Given the description of an element on the screen output the (x, y) to click on. 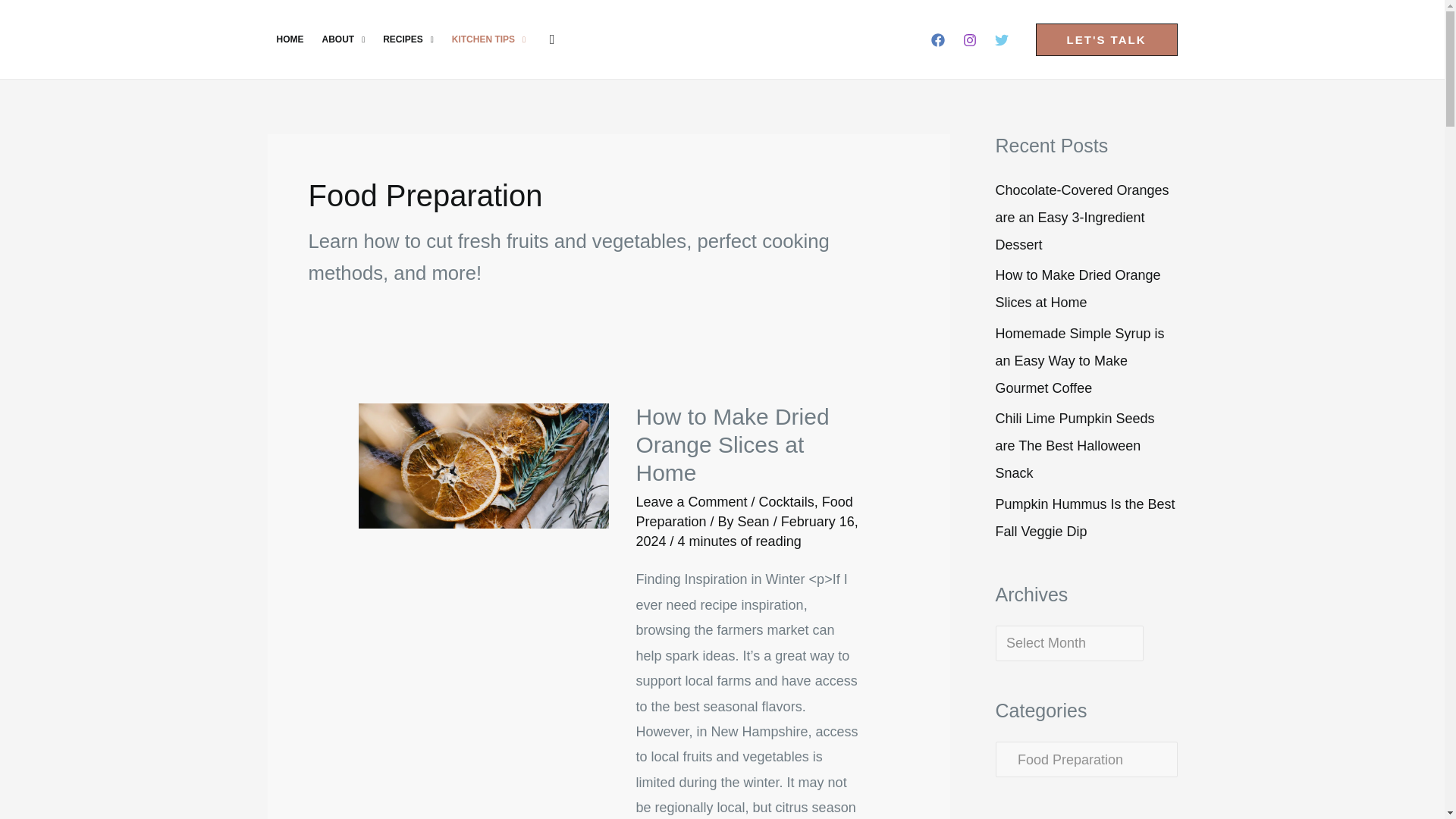
How to Make Dried Orange Slices at Home (731, 444)
LET'S TALK (1106, 38)
View all posts by Sean (755, 521)
Leave a Comment (690, 501)
KITCHEN TIPS (488, 39)
